Given the description of an element on the screen output the (x, y) to click on. 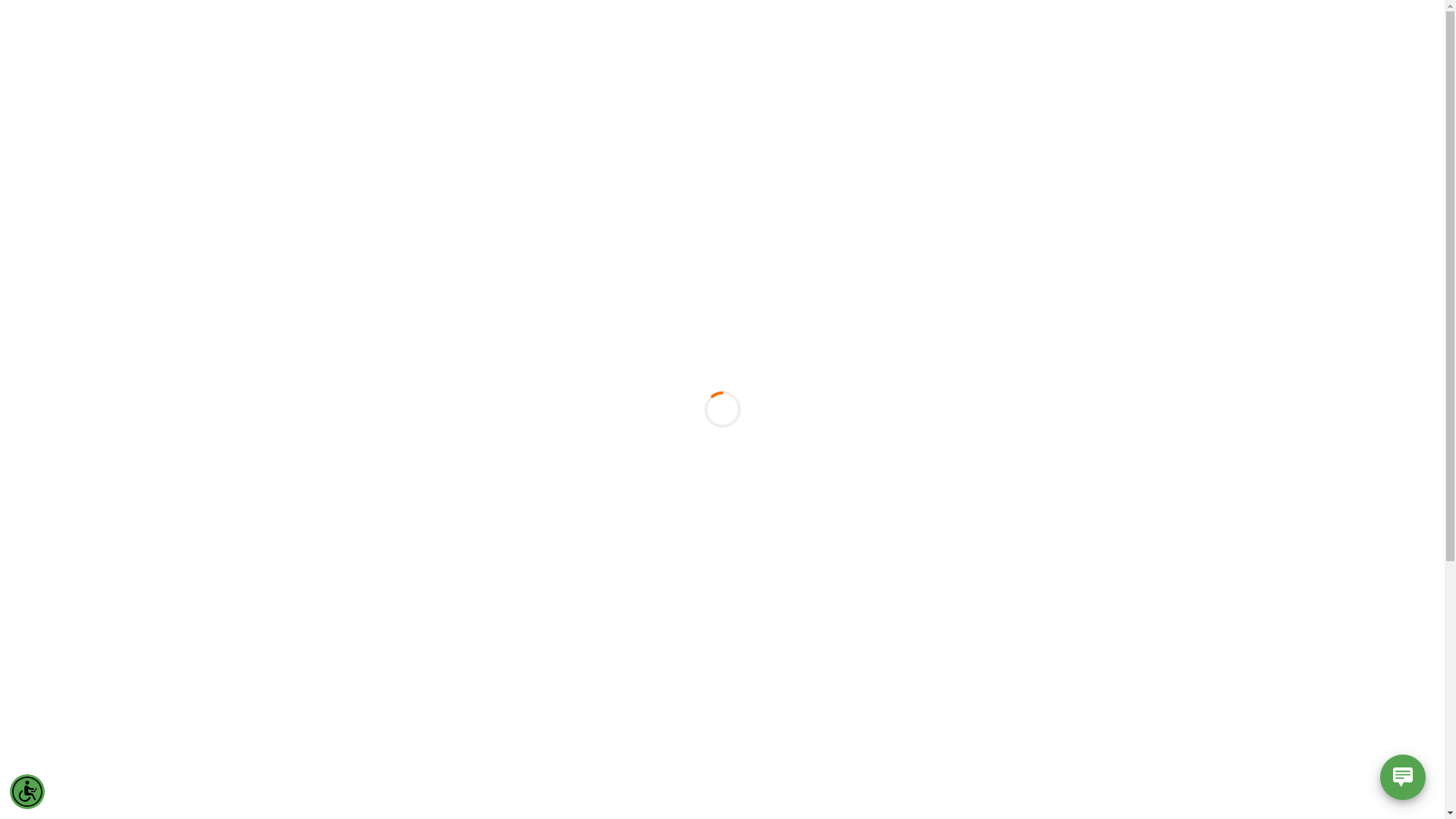
Offices Element type: text (1234, 32)
SEND Element type: text (280, 602)
Online services Element type: text (1162, 32)
Legislation Element type: text (952, 32)
Corporate insurance Element type: text (855, 32)
Insurance occurrence Element type: text (1051, 32)
Personal cabinet Element type: text (1312, 32)
Products and types Element type: text (737, 32)
About us Element type: text (648, 32)
since 1998 Element type: text (76, 32)
